Given the description of an element on the screen output the (x, y) to click on. 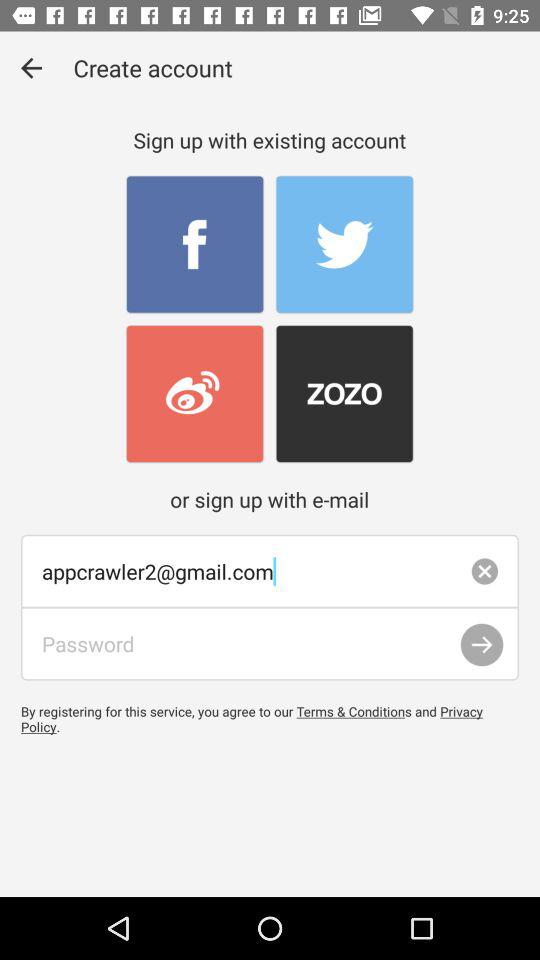
turn on icon above the by registering for icon (270, 643)
